Given the description of an element on the screen output the (x, y) to click on. 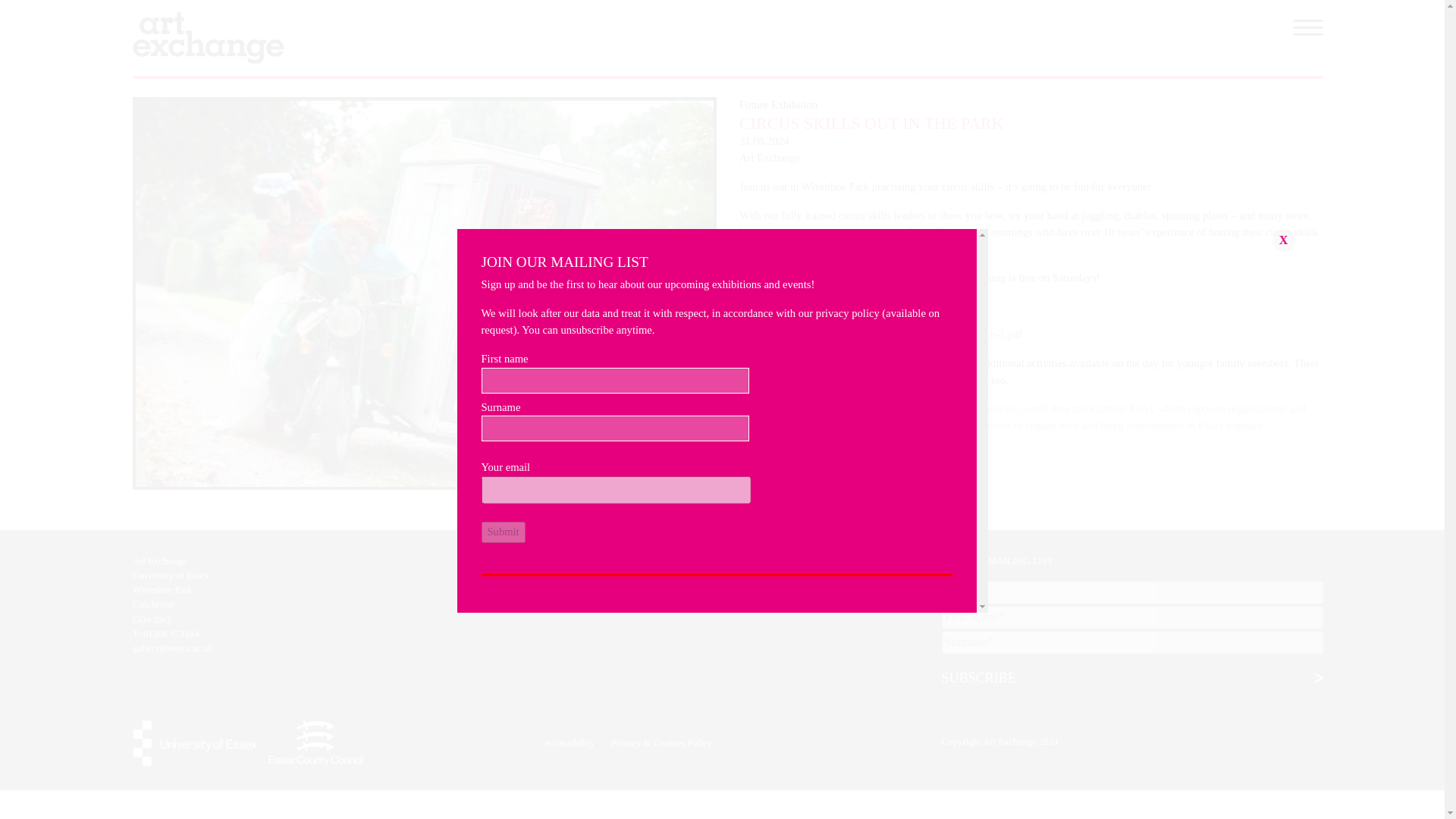
SUBSCRIBE (1132, 677)
Submit (502, 531)
Art-in-the-Park-Mapv1b-1.pdf (954, 334)
Submit (1283, 240)
